Given the description of an element on the screen output the (x, y) to click on. 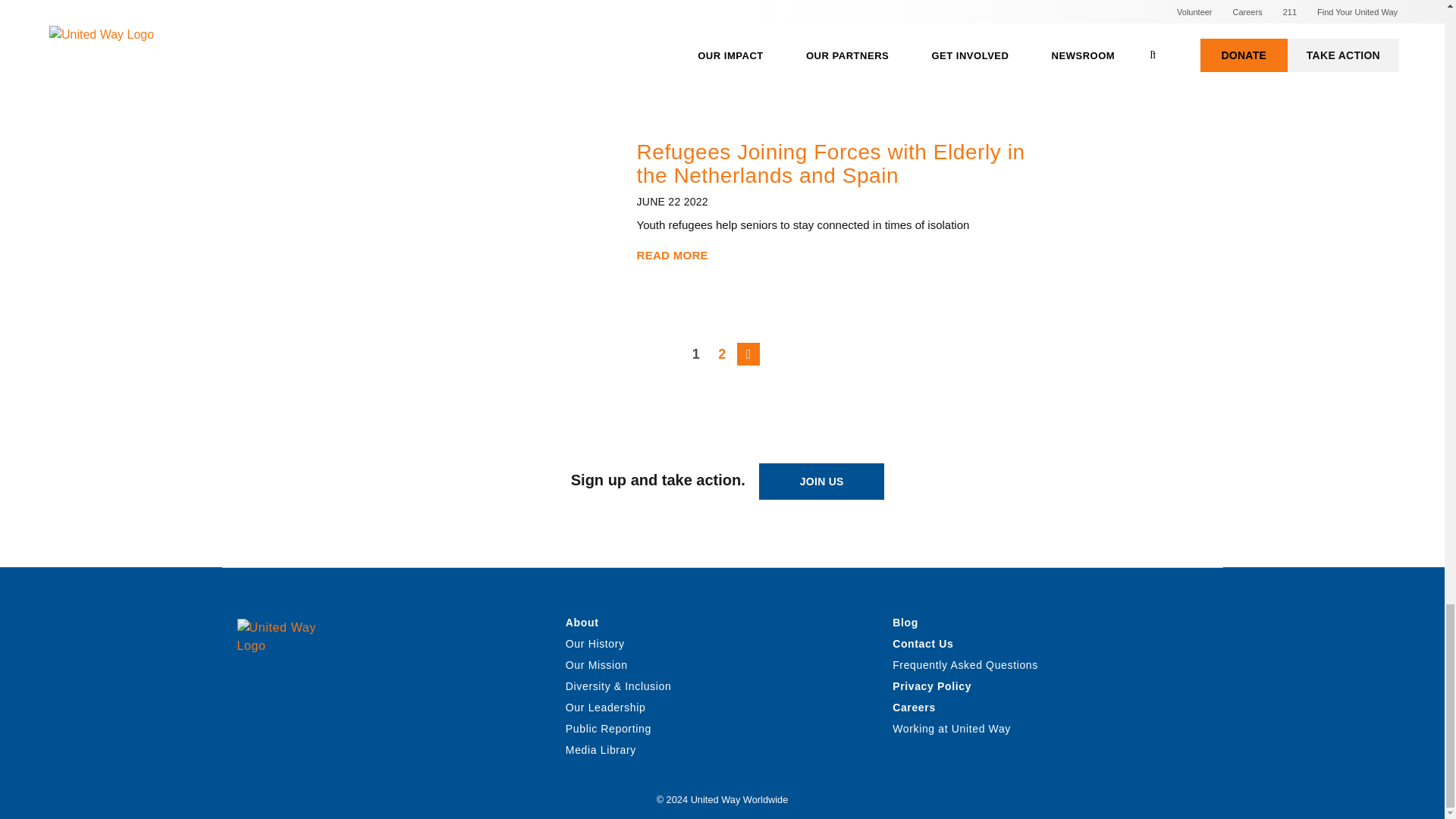
Read More (672, 254)
Read More (672, 15)
